Given the description of an element on the screen output the (x, y) to click on. 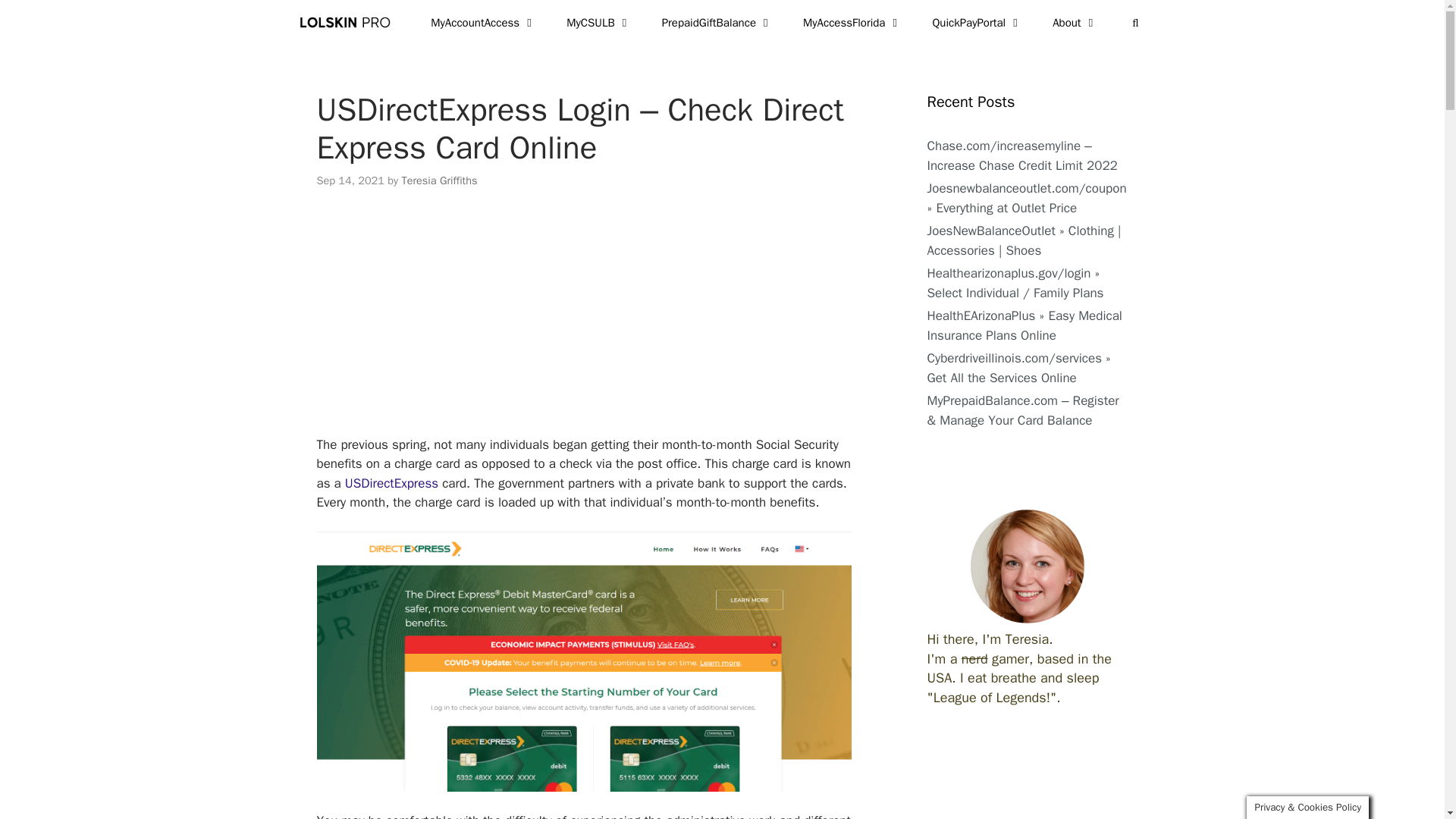
LoL Skin (350, 22)
View all posts by Teresia Griffiths (439, 180)
MyAccessFlorida (852, 22)
QuickPayPortal (976, 22)
MyAccountAccess (482, 22)
PrepaidGiftBalance (716, 22)
LoL Skin (347, 22)
USDirectExpress (391, 483)
MyCSULB (598, 22)
Teresia Griffiths (439, 180)
Advertisement (603, 321)
About (1074, 22)
